Given the description of an element on the screen output the (x, y) to click on. 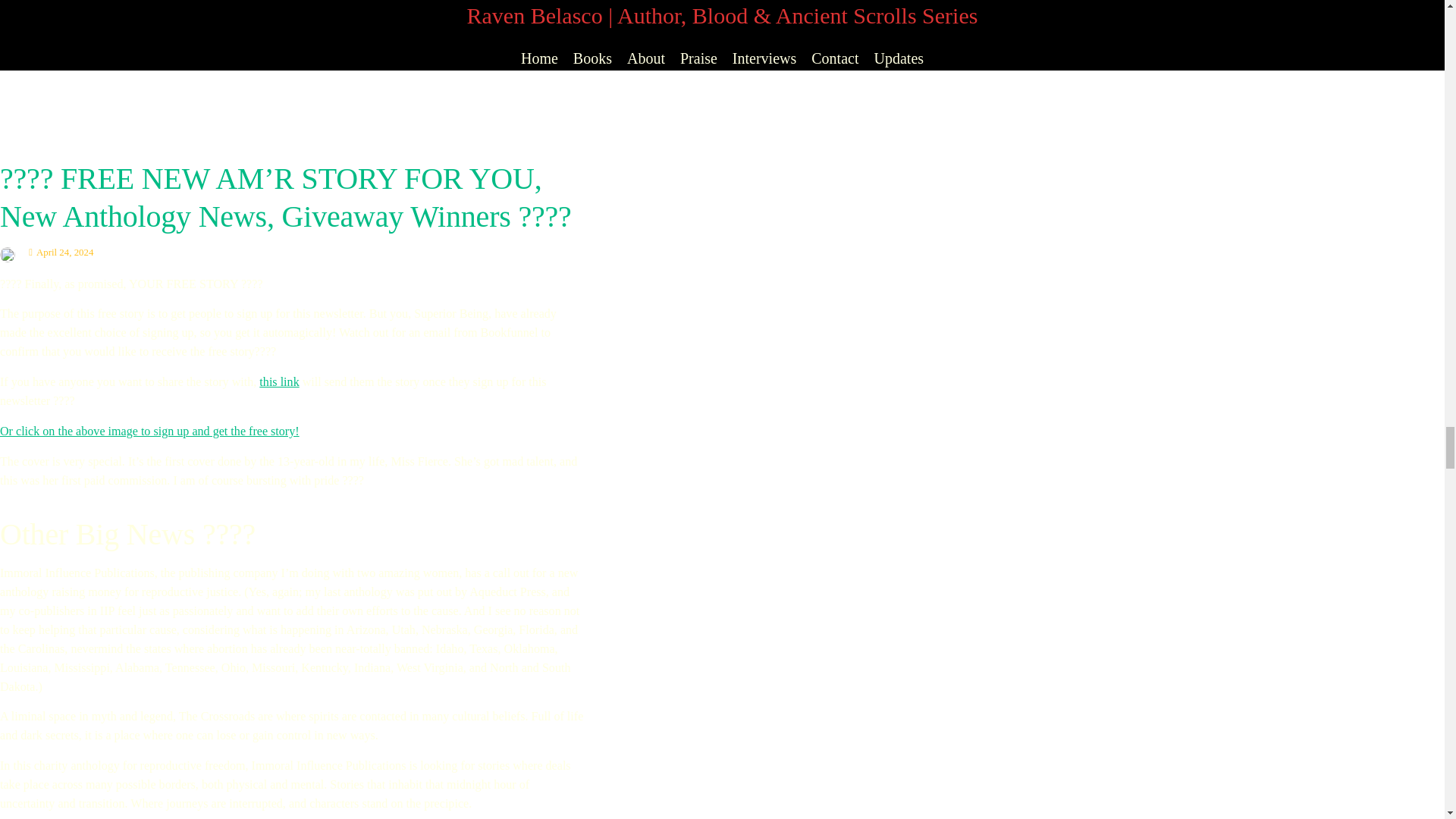
View all posts by  (10, 252)
11:21 pm (61, 252)
